Given the description of an element on the screen output the (x, y) to click on. 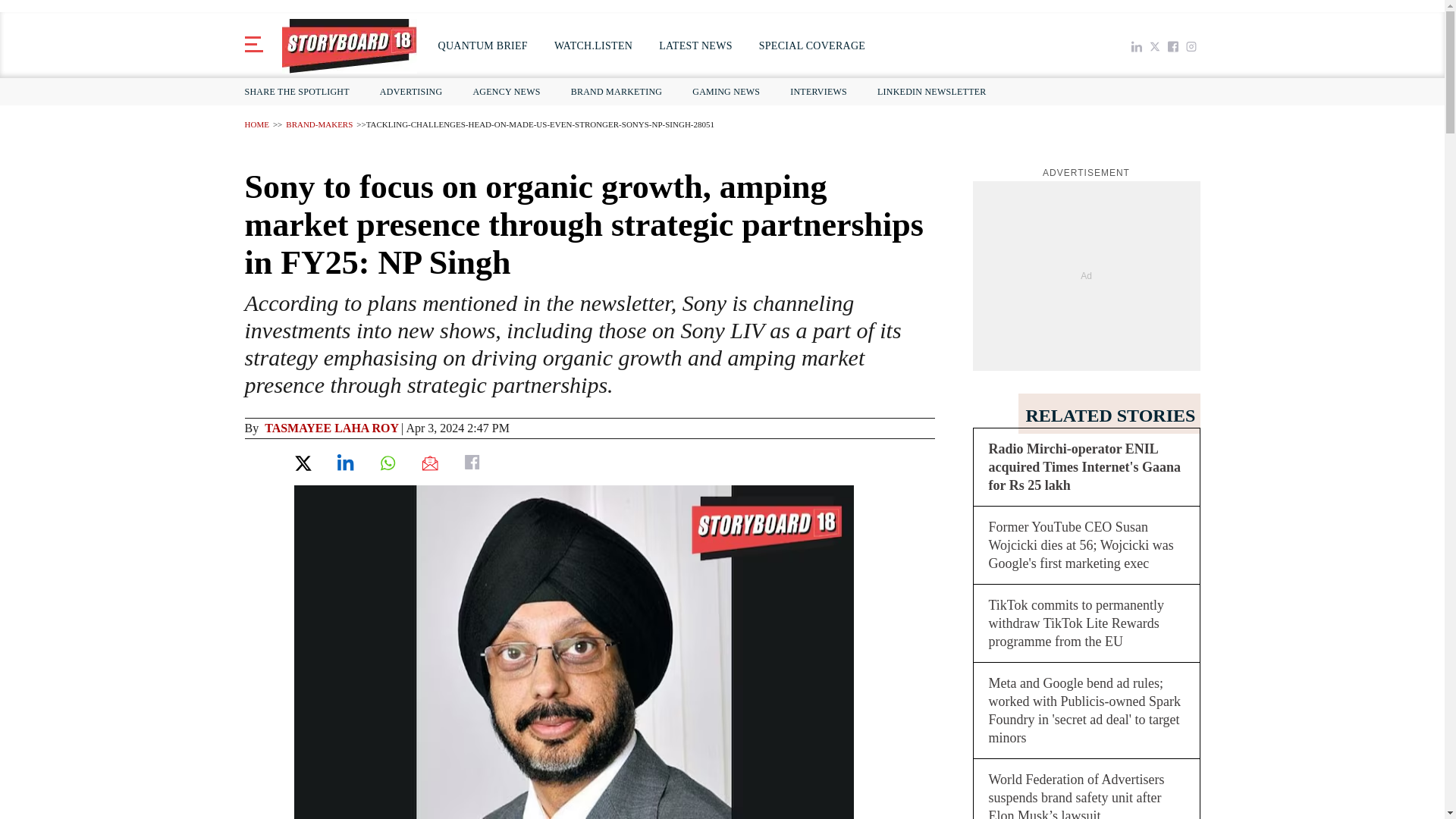
BRAND-MAKERS (318, 123)
Click to go to facebook (1171, 45)
INTERVIEWS (818, 91)
SHARE THE SPOTLIGHT (300, 91)
BRAND MARKETING (616, 91)
AGENCY NEWS (505, 91)
Click to go to Special Coverage (811, 45)
Click to go to Quantum Brief (483, 45)
LATEST NEWS (695, 45)
ADVERTISING (410, 91)
